Given the description of an element on the screen output the (x, y) to click on. 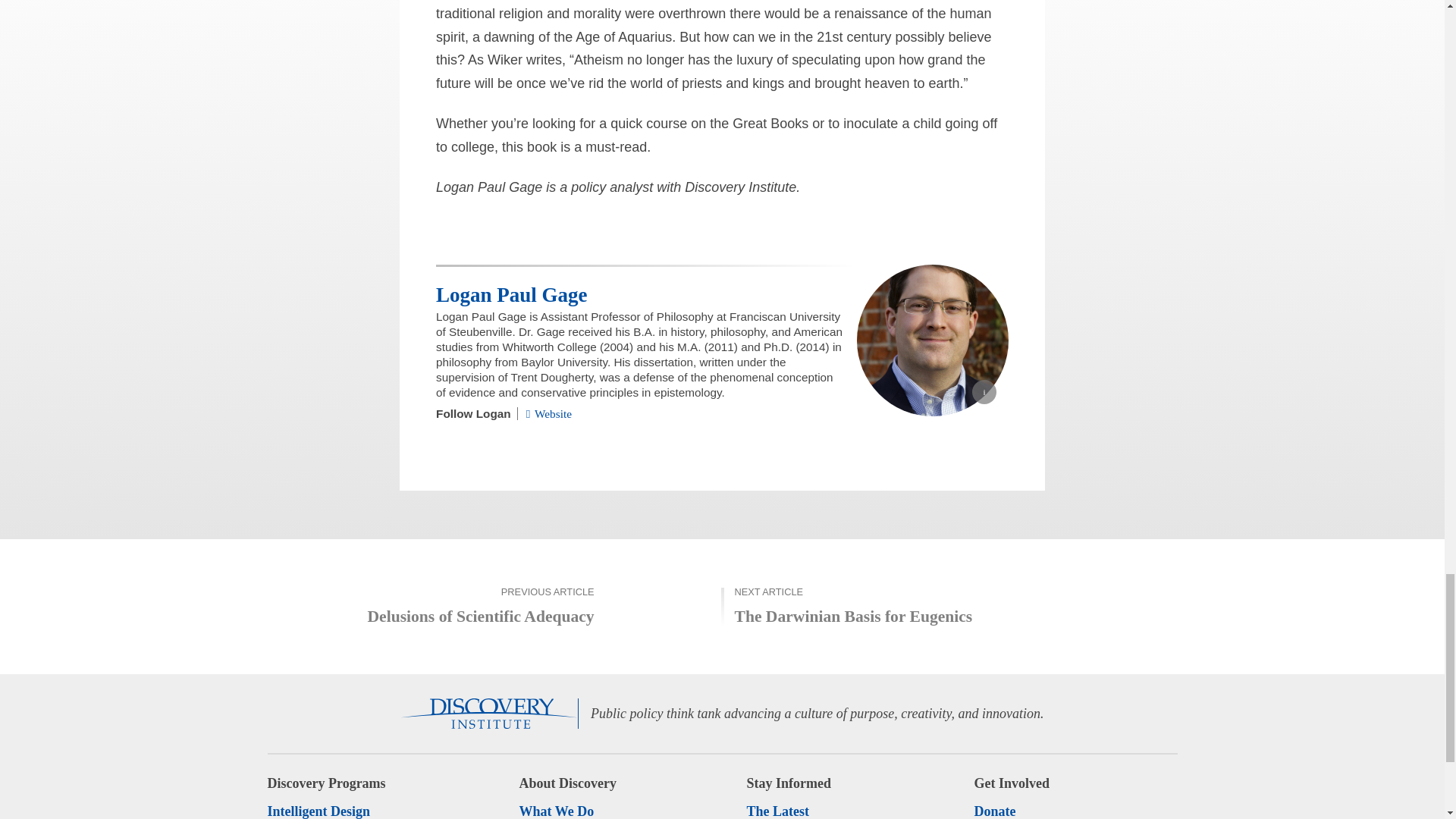
Website (548, 413)
Logan Paul Gage (511, 294)
